Given the description of an element on the screen output the (x, y) to click on. 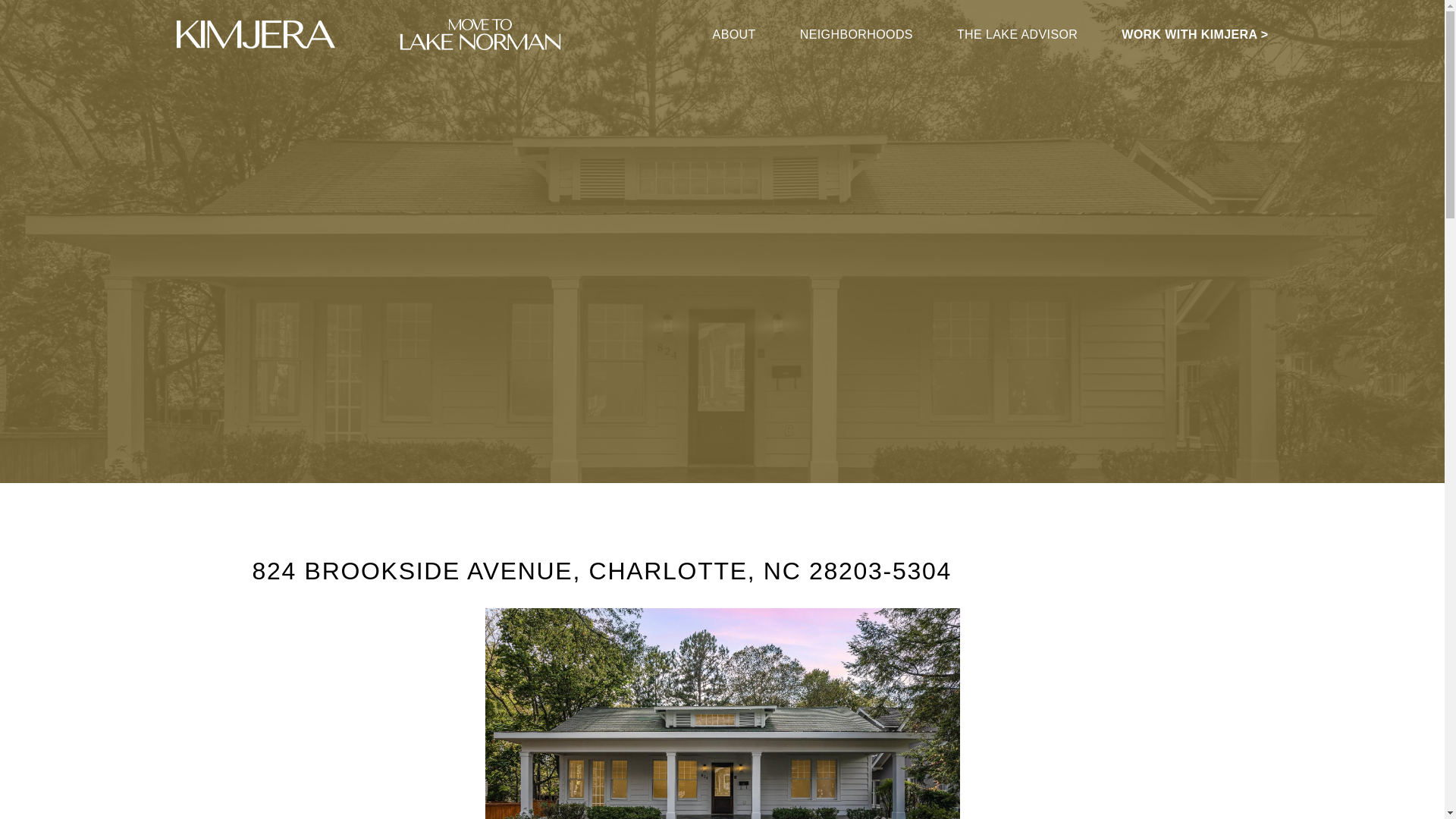
NEIGHBORHOODS (855, 34)
THE LAKE ADVISOR (1016, 34)
ABOUT (734, 34)
